Given the description of an element on the screen output the (x, y) to click on. 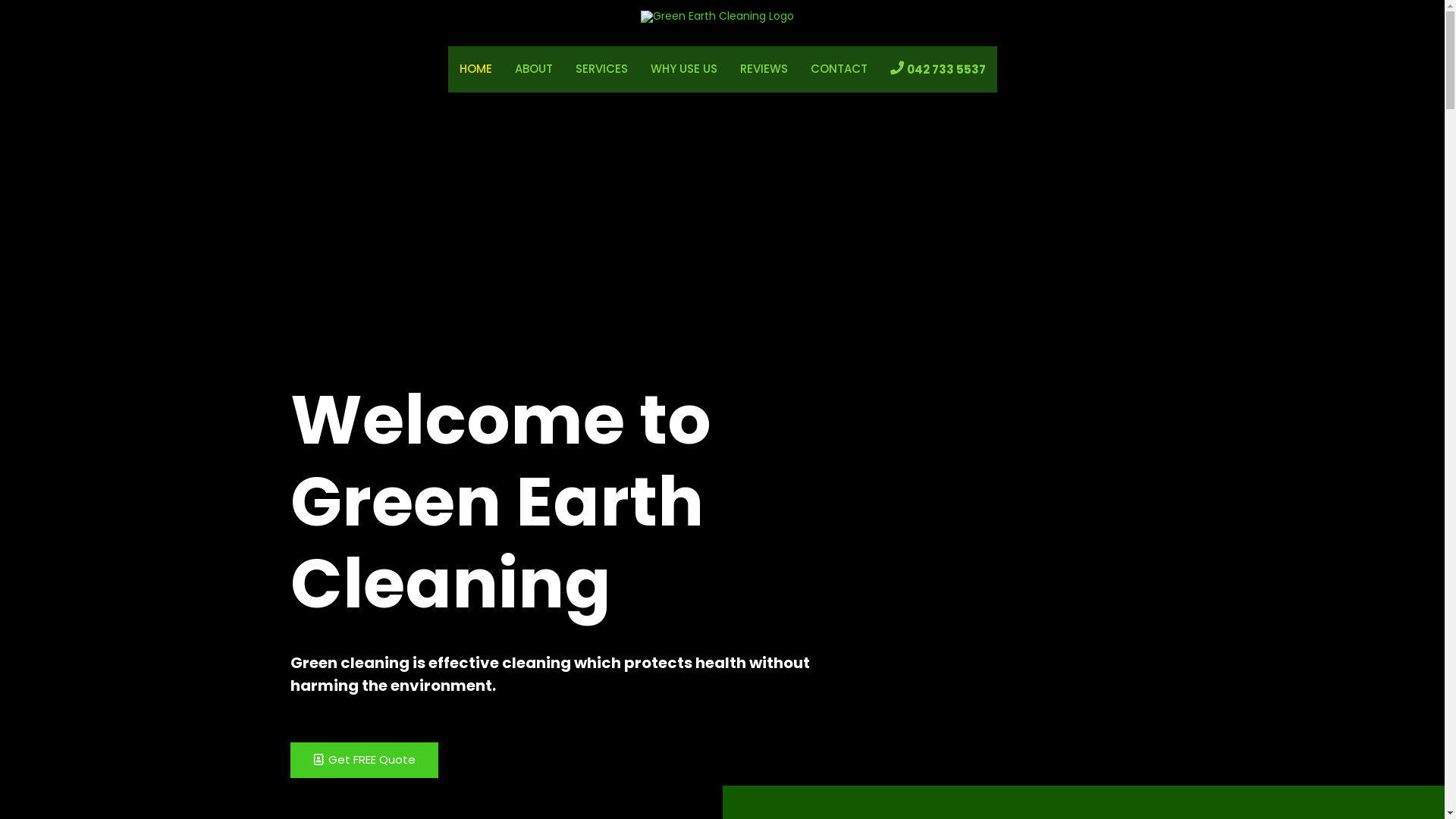
SERVICES Element type: text (601, 69)
WHY USE US Element type: text (683, 69)
HOME Element type: text (474, 69)
ABOUT Element type: text (533, 69)
042 733 5537 Element type: text (945, 69)
Get FREE Quote Element type: text (363, 760)
CONTACT Element type: text (838, 69)
REVIEWS Element type: text (763, 69)
